Given the description of an element on the screen output the (x, y) to click on. 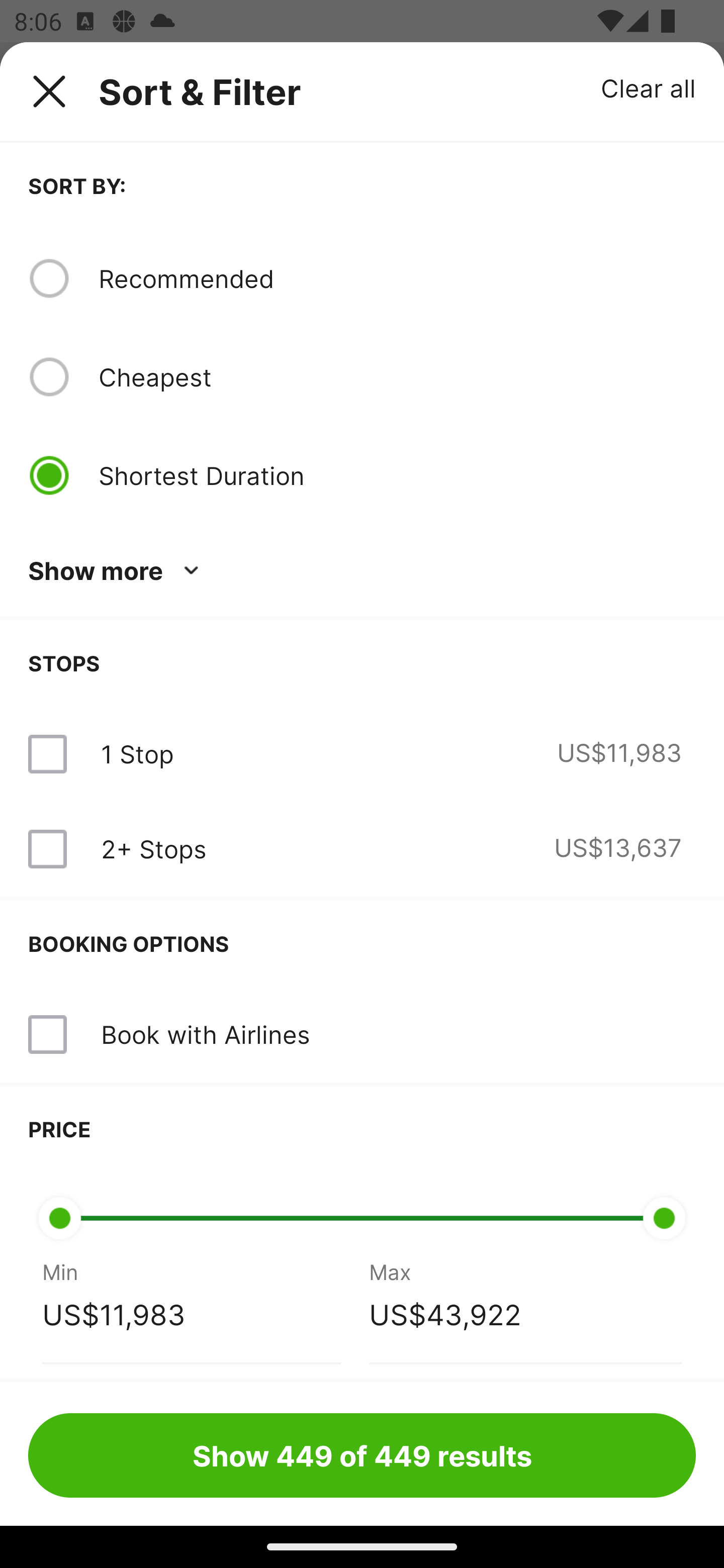
Clear all (648, 87)
Recommended  (396, 278)
Cheapest (396, 377)
Shortest Duration (396, 474)
Show more (116, 570)
1 Stop US$11,983 (362, 754)
1 Stop (136, 753)
2+ Stops US$13,637 (362, 848)
2+ Stops (153, 849)
Book with Airlines (362, 1033)
Book with Airlines (204, 1034)
Show 449 of 449 results (361, 1454)
